Given the description of an element on the screen output the (x, y) to click on. 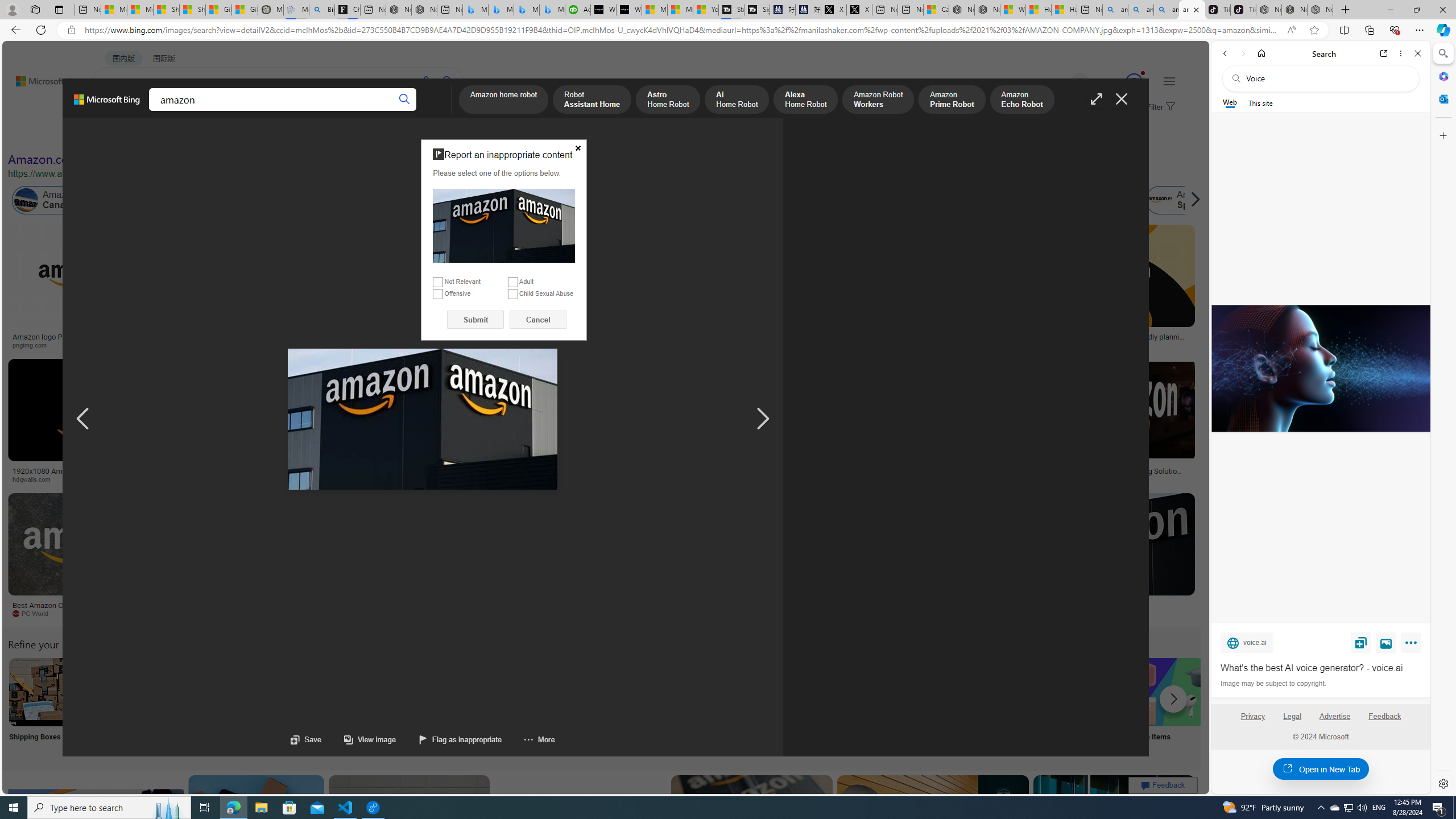
amazon - Search Images (1191, 9)
Offensive (437, 293)
mytotalretail.com (180, 344)
Not Relevant (437, 282)
Sign My Account (718, 706)
Accounting Software for Accountants, CPAs and Bookkeepers (577, 9)
AutomationID: navr (762, 418)
Retail Store (493, 706)
